Given the description of an element on the screen output the (x, y) to click on. 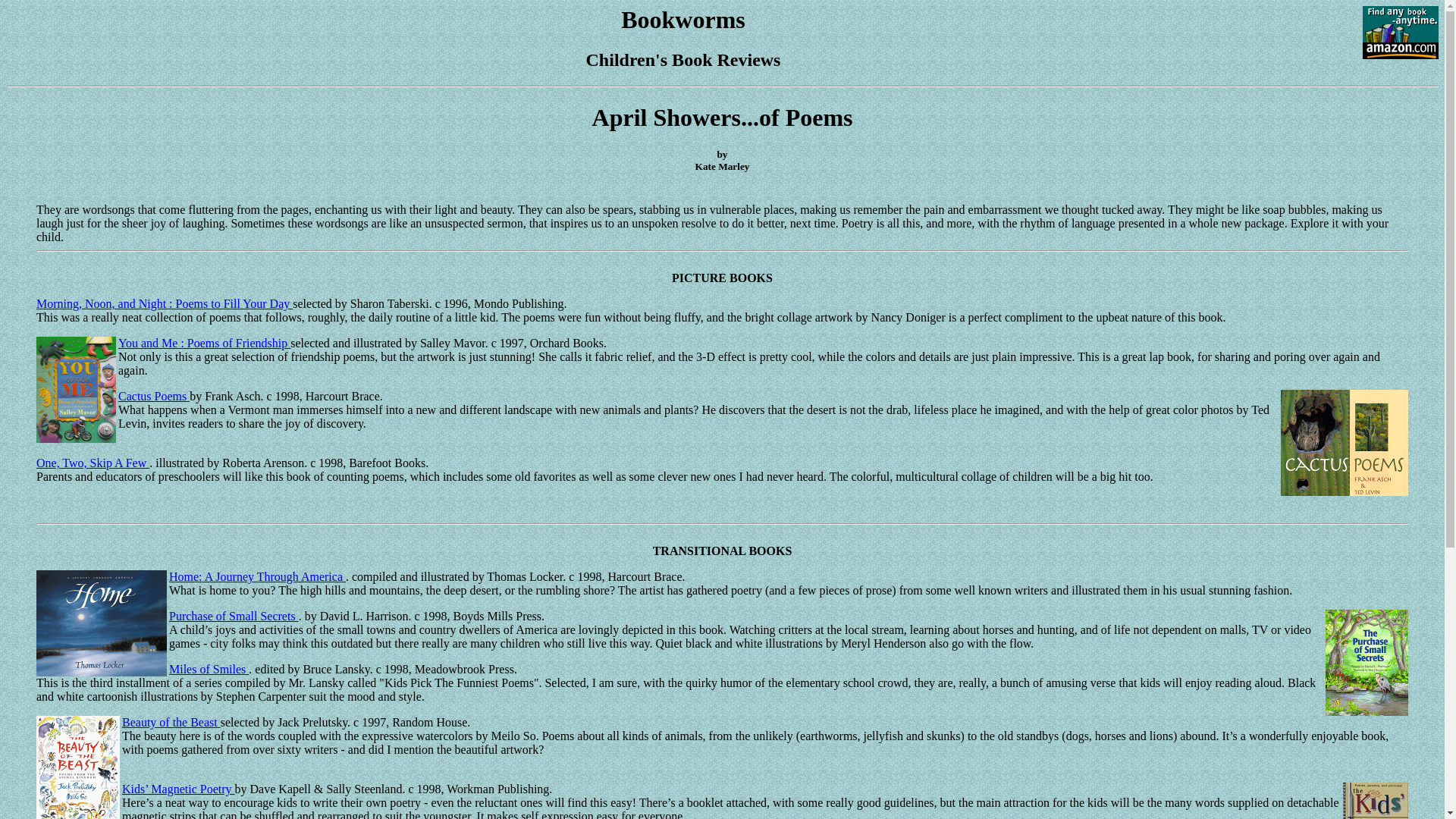
You and Me : Poems of Friendship (203, 342)
One, Two, Skip A Few (92, 462)
Morning, Noon, and Night : Poems to Fill Your Day (164, 303)
Purchase of Small Secrets (233, 615)
Miles of Smiles (208, 668)
Cactus Poems (153, 395)
Home: A Journey Through America (257, 576)
Beauty of the Beast (171, 721)
